Given the description of an element on the screen output the (x, y) to click on. 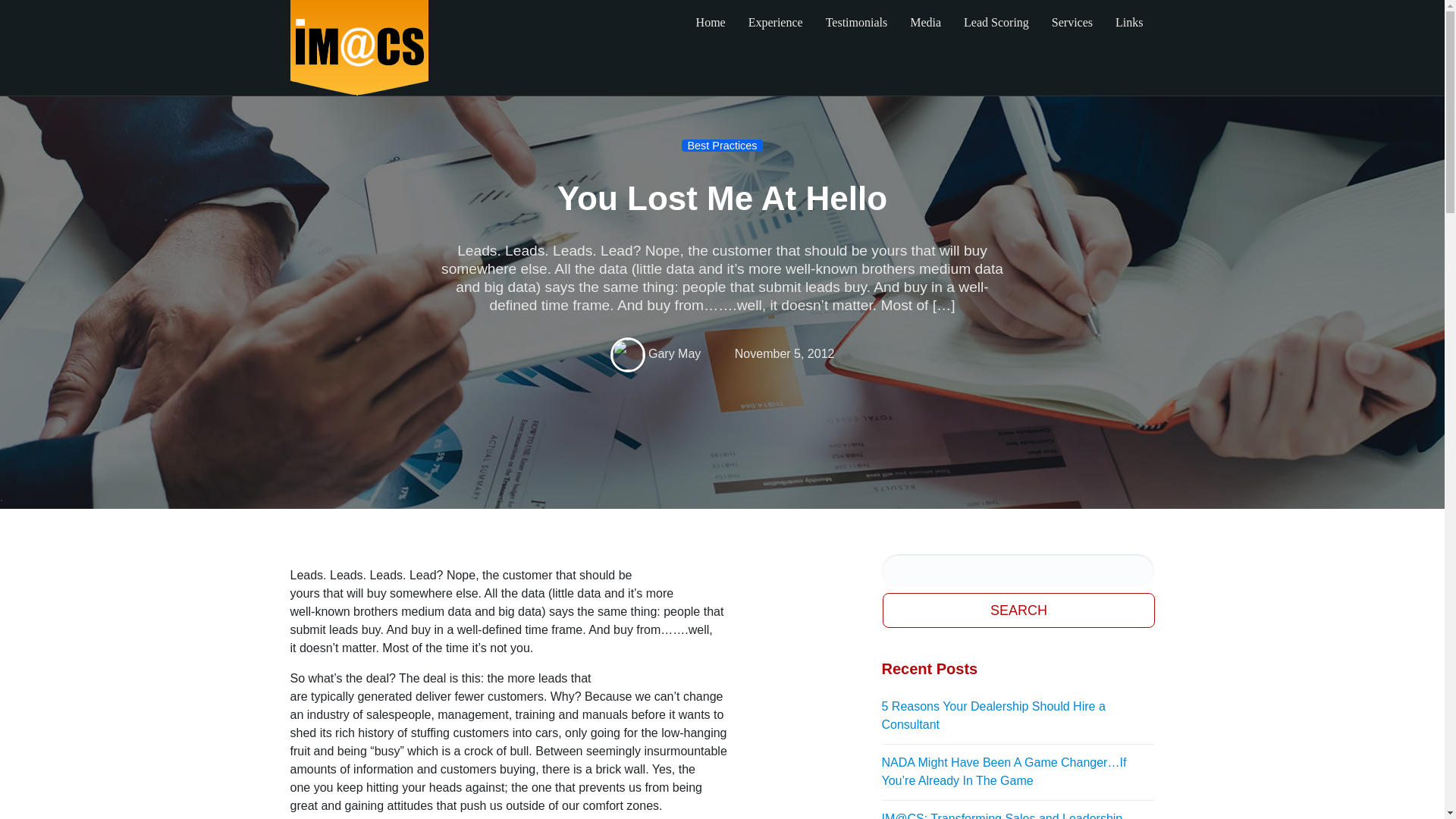
Best Practices (721, 145)
Search (1019, 610)
Media (925, 22)
Home (710, 22)
Testimonials (856, 22)
November 5, 2012 (784, 353)
Gary May (673, 353)
Links (1128, 22)
Lead Scoring (996, 22)
Services (1072, 22)
Experience (774, 22)
Search (1019, 610)
5 Reasons Your Dealership Should Hire a Consultant (1017, 715)
